Given the description of an element on the screen output the (x, y) to click on. 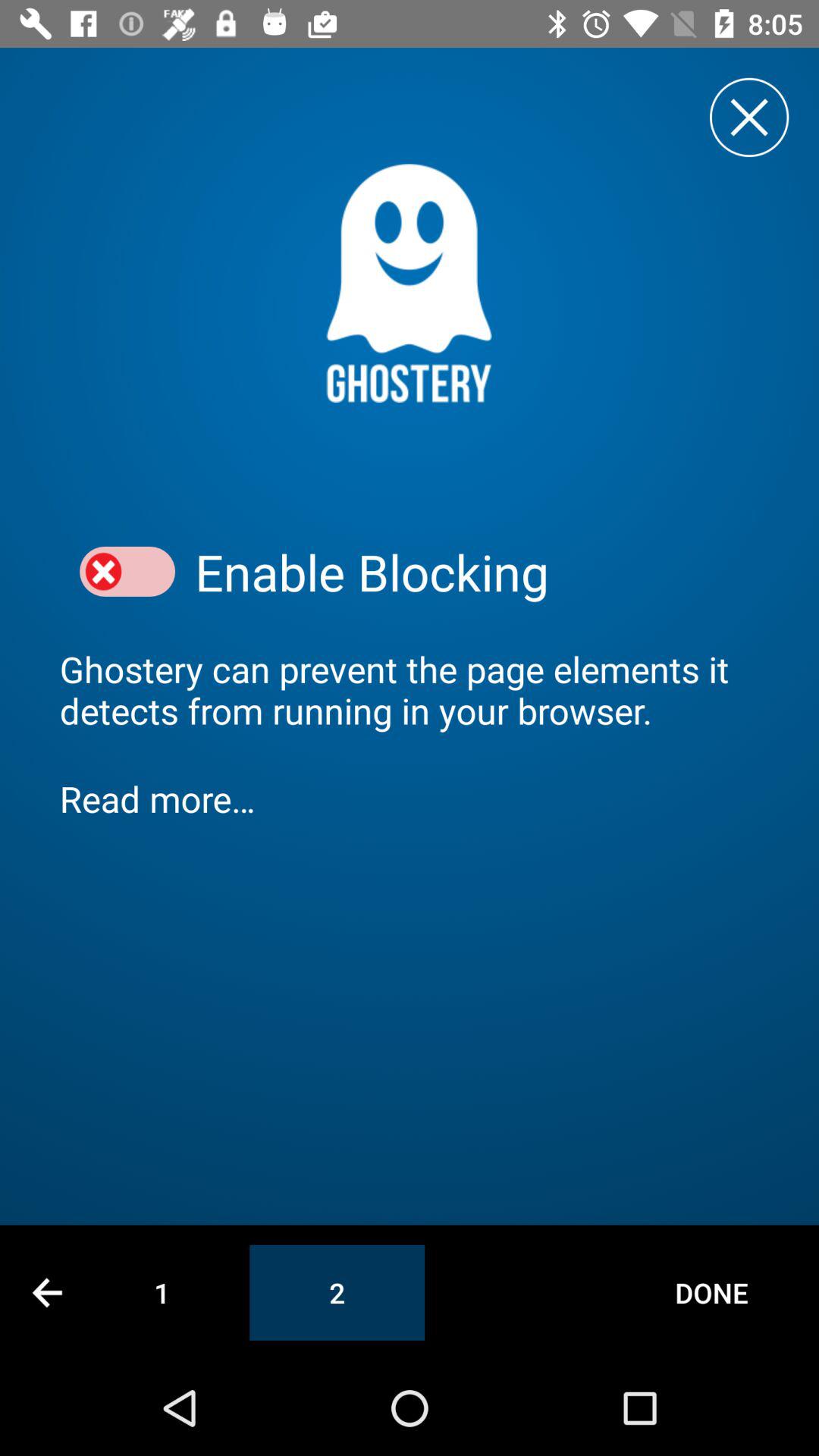
turn on item on the left (127, 571)
